Given the description of an element on the screen output the (x, y) to click on. 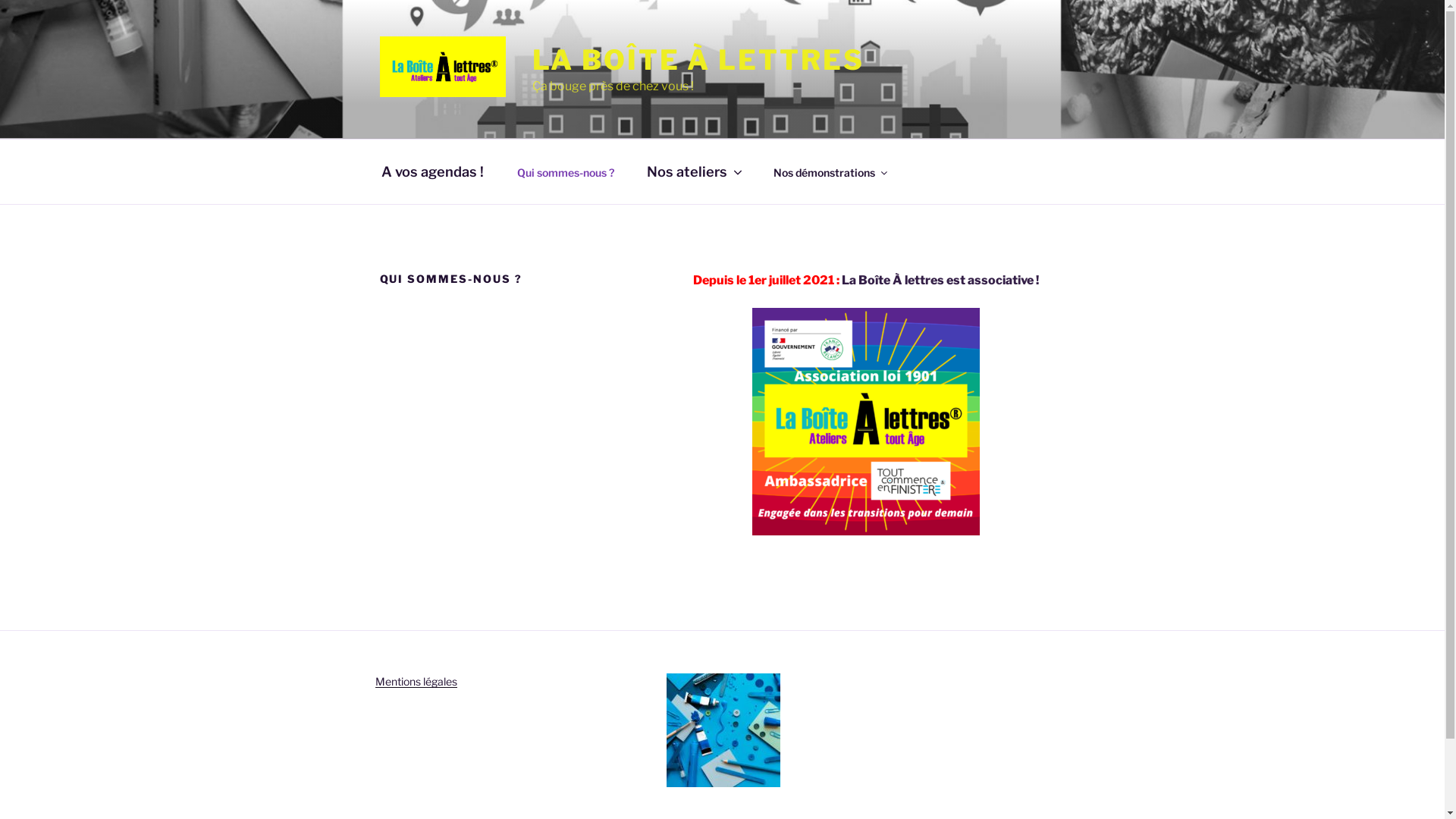
A vos agendas ! Element type: text (432, 171)
Nos ateliers Element type: text (693, 171)
Qui sommes-nous ? Element type: text (565, 172)
